Given the description of an element on the screen output the (x, y) to click on. 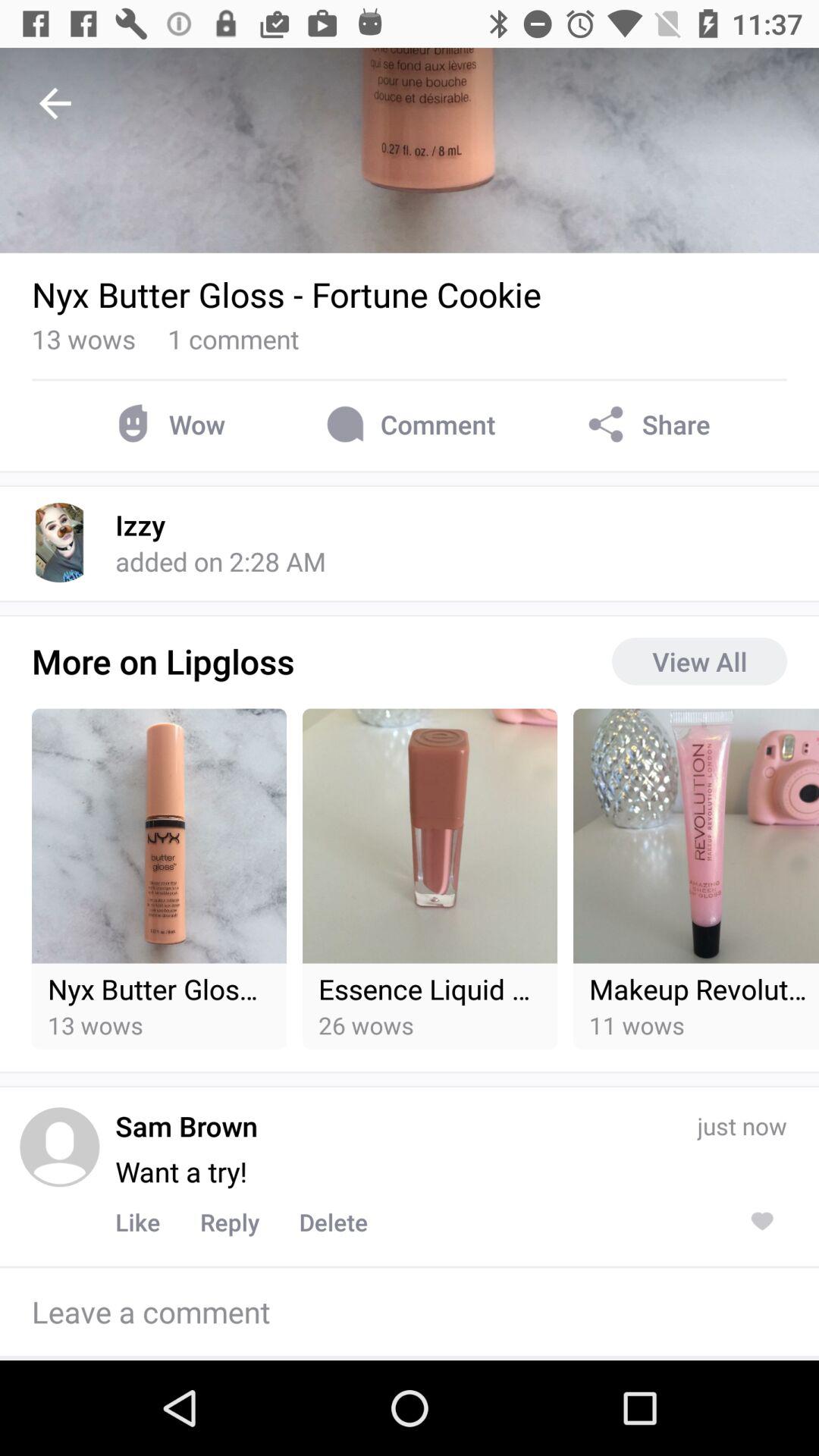
turn on the item below the share icon (699, 661)
